Given the description of an element on the screen output the (x, y) to click on. 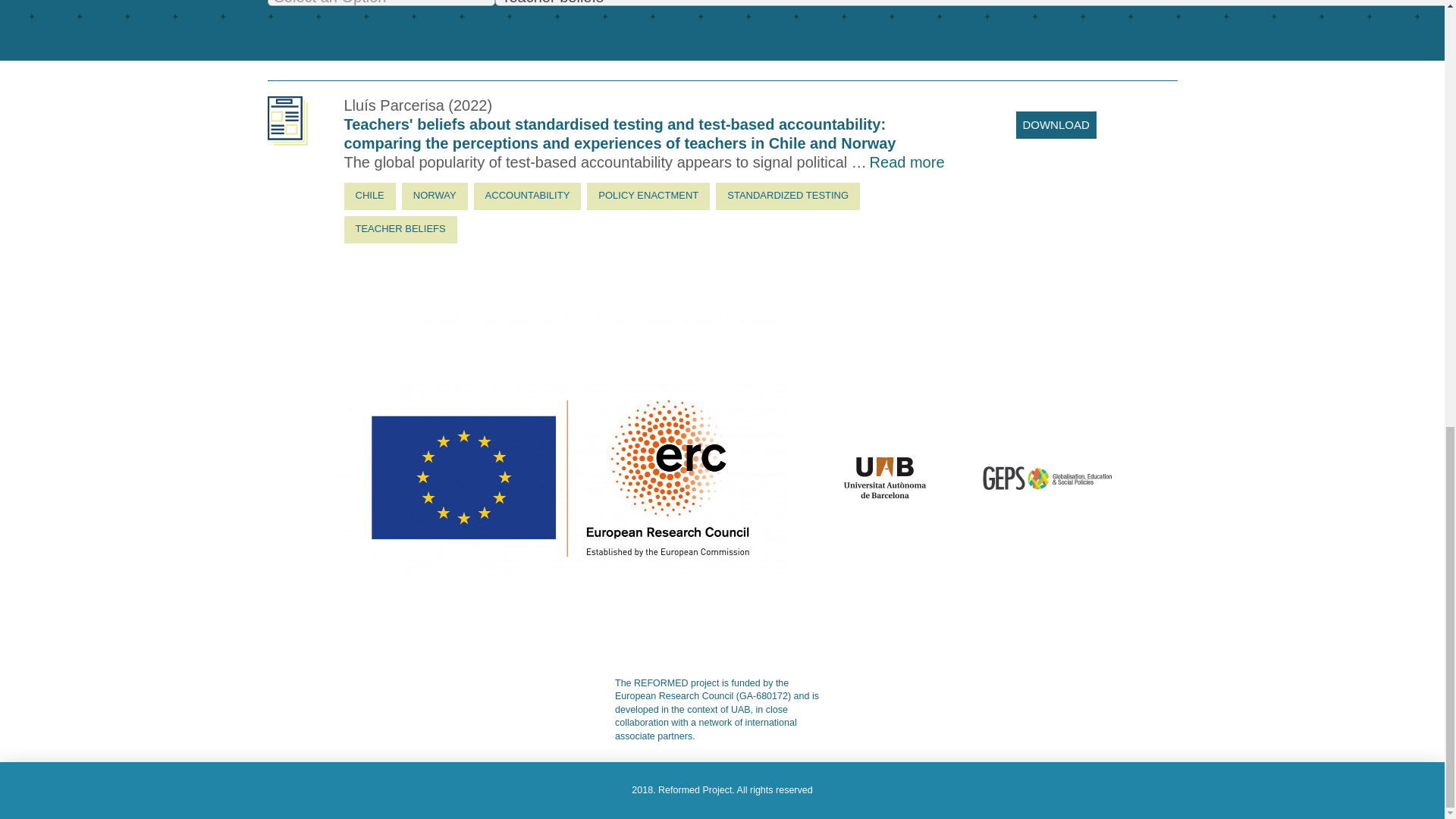
NORWAY (434, 195)
CHILE (369, 195)
ACCOUNTABILITY (527, 195)
STANDARDIZED TESTING (788, 195)
POLICY ENACTMENT (648, 195)
DOWNLOAD (1056, 124)
TEACHER BELIEFS (400, 229)
Select an Option (380, 2)
